Given the description of an element on the screen output the (x, y) to click on. 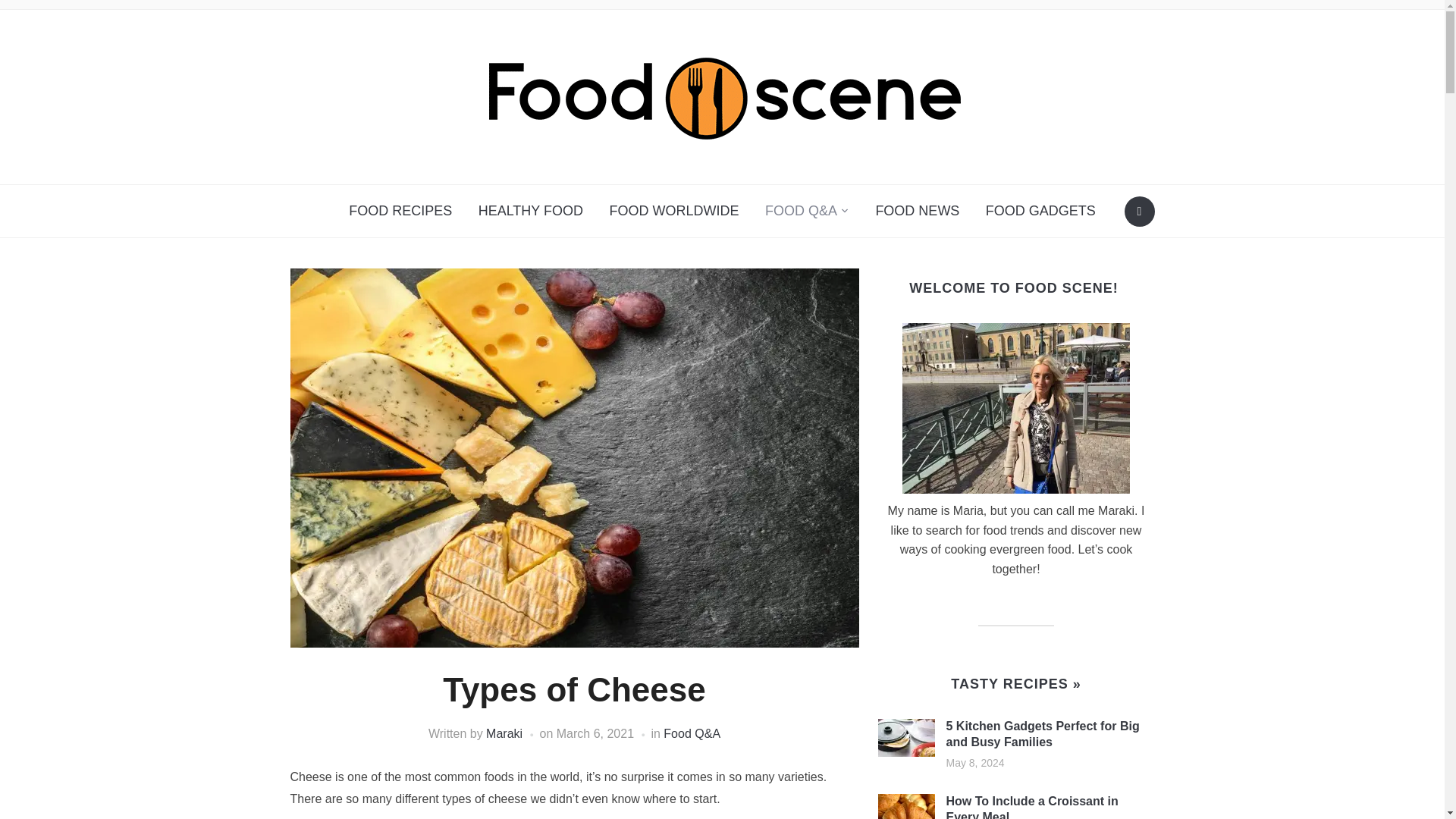
FOOD NEWS (917, 211)
FOOD RECIPES (400, 211)
Food recipes (1015, 683)
Maraki (504, 733)
Posts by Maraki (504, 733)
Search (1139, 211)
FOOD GADGETS (1040, 211)
FOOD WORLDWIDE (672, 211)
HEALTHY FOOD (530, 211)
